Given the description of an element on the screen output the (x, y) to click on. 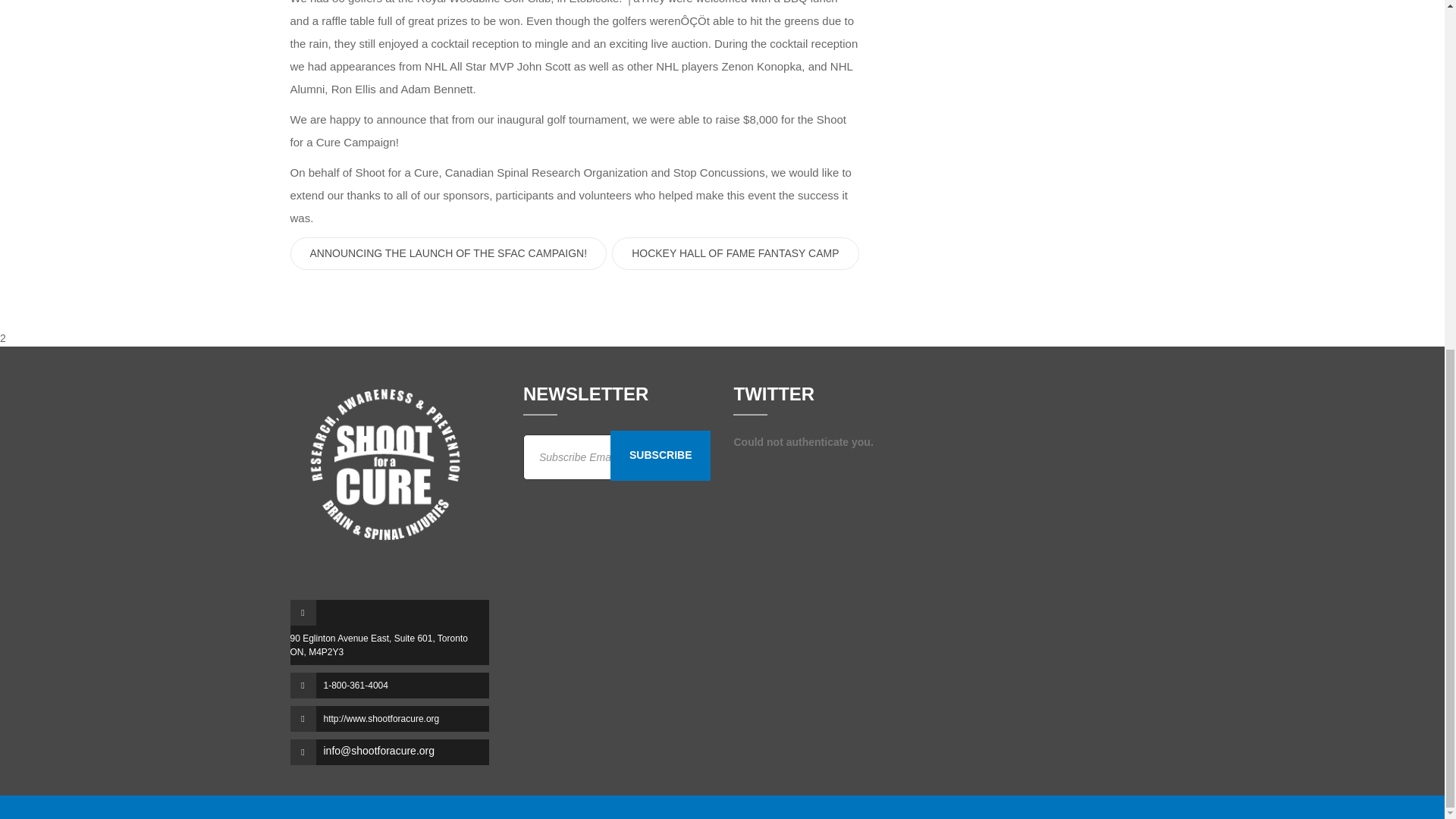
ANNOUNCING THE LAUNCH OF THE SFAC CAMPAIGN! (448, 252)
SUBSCRIBE (660, 455)
SUBSCRIBE (660, 455)
HOCKEY HALL OF FAME FANTASY CAMP (735, 252)
